Given the description of an element on the screen output the (x, y) to click on. 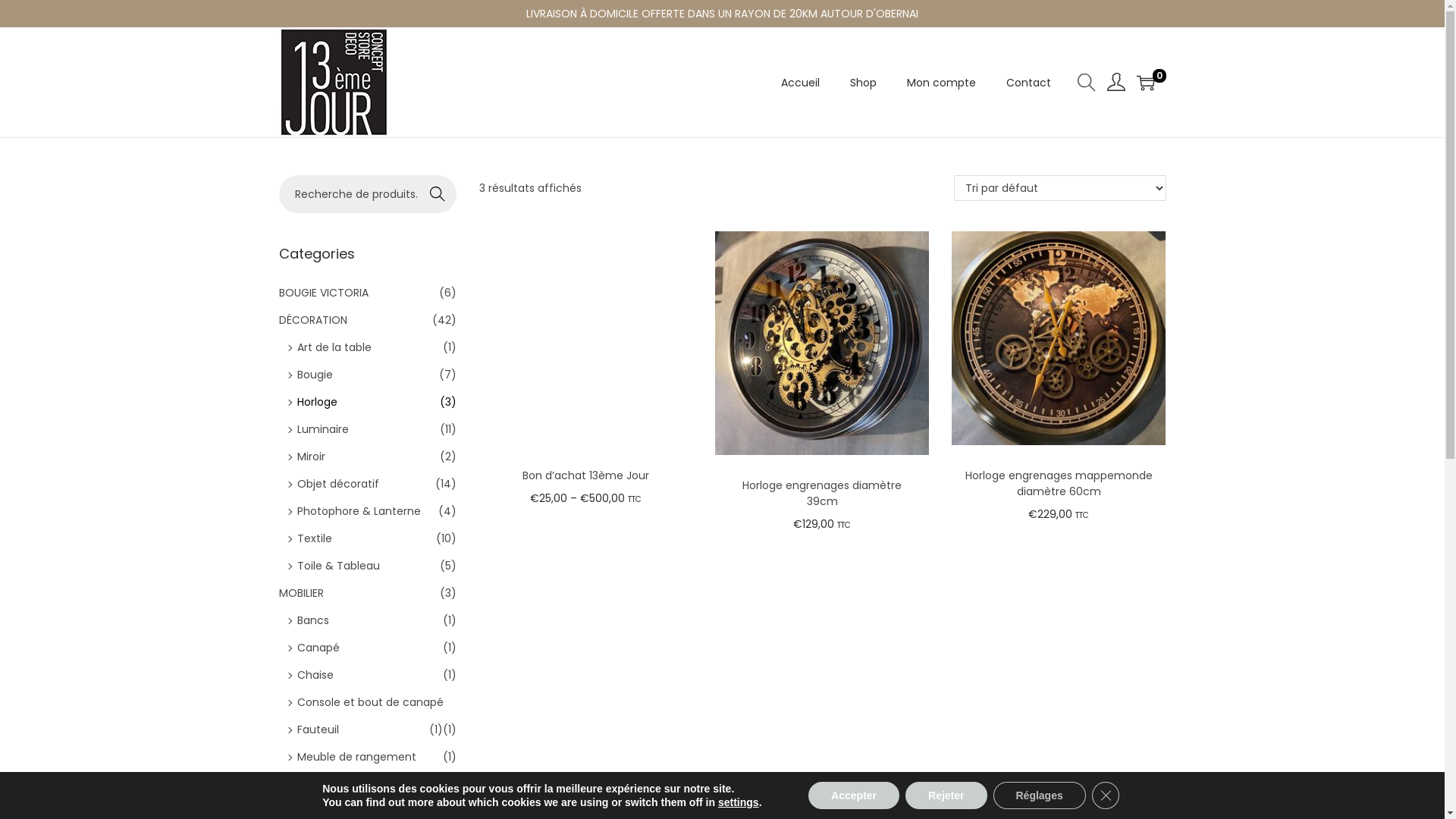
Toile & Tableau Element type: text (338, 565)
Chaise Element type: text (315, 674)
Close GDPR Cookie Banner Element type: text (1105, 795)
Miroir Element type: text (311, 456)
Shop Element type: text (862, 82)
Recherche Element type: text (437, 194)
Meuble de rangement Element type: text (356, 756)
Mon compte Element type: text (940, 82)
Fauteuil Element type: text (317, 729)
Horloge Element type: text (317, 401)
Accepter Element type: text (853, 795)
Textile Element type: text (314, 538)
Pouf Element type: text (309, 783)
MOBILIER Element type: text (301, 592)
Bancs Element type: text (313, 619)
Photophore & Lanterne Element type: text (358, 510)
Recherche Element type: text (950, 428)
Accueil Element type: text (800, 82)
Luminaire Element type: text (322, 428)
0 Element type: text (1144, 81)
Contact Element type: text (1027, 82)
Bougie Element type: text (314, 374)
BOUGIE VICTORIA Element type: text (323, 292)
Art de la table Element type: text (334, 346)
Rejeter Element type: text (945, 795)
